Given the description of an element on the screen output the (x, y) to click on. 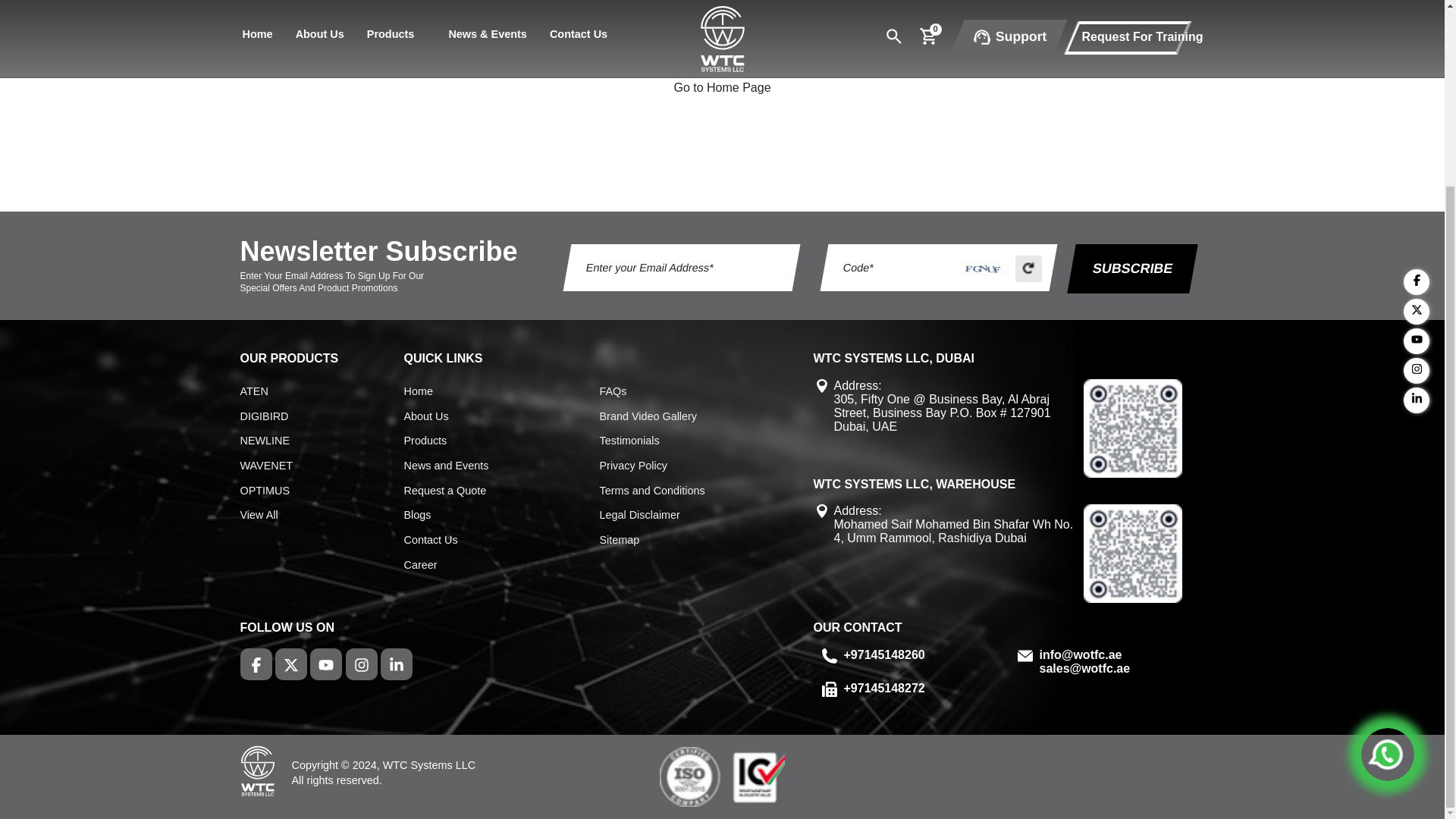
Subscribe (1128, 268)
Request a Quote (444, 490)
View All (259, 514)
ATEN (253, 391)
OPTIMUS (264, 490)
WAVENET (266, 465)
Youtube (1416, 109)
Linkedin (1416, 168)
News and Events (445, 465)
Blogs (416, 514)
